Given the description of an element on the screen output the (x, y) to click on. 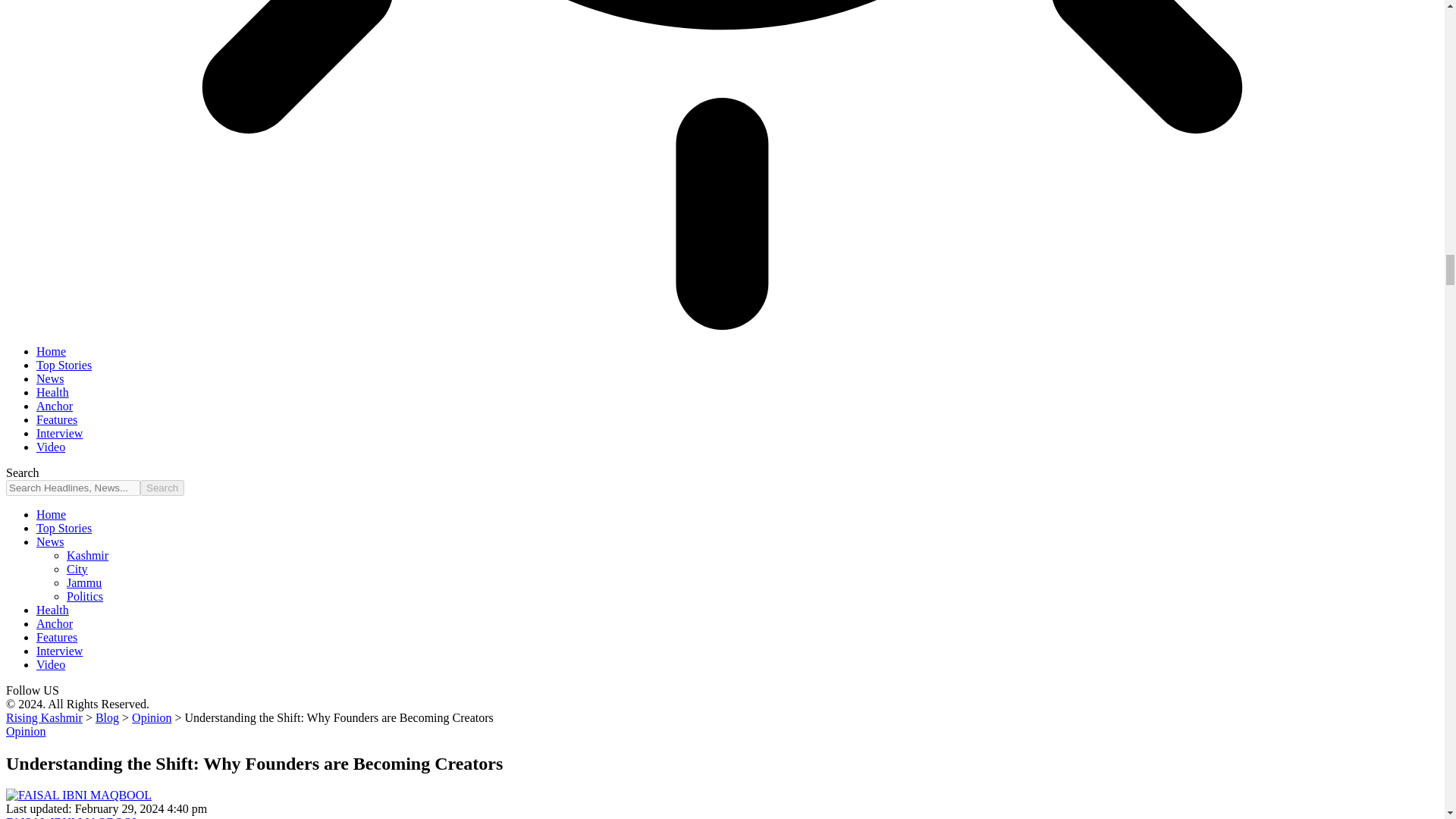
Search (161, 487)
Go to Rising Kashmir. (43, 717)
Go to Blog. (107, 717)
Go to the Opinion Category archives. (151, 717)
